Given the description of an element on the screen output the (x, y) to click on. 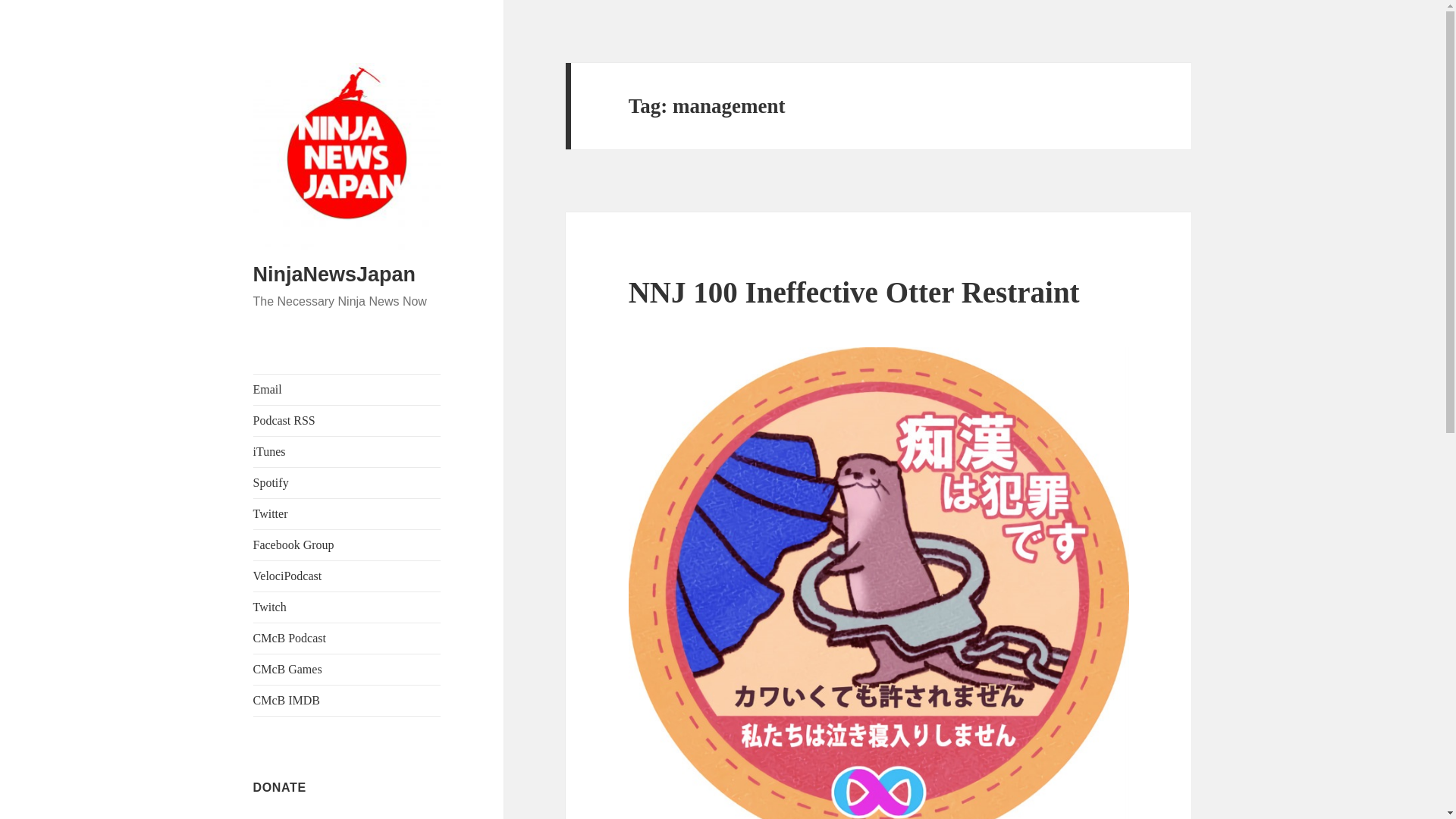
CMcB Podcast (347, 638)
Spotify (347, 482)
via paypal (277, 818)
NinjaNewsJapan (334, 273)
NNJ 100 Ineffective Otter Restraint (854, 292)
iTunes (347, 451)
Facebook Group (347, 544)
Email (347, 389)
VelociPodcast (347, 576)
Podcast RSS (347, 420)
Twitch (347, 607)
CMcB Games (347, 669)
CMcB IMDB (347, 700)
Twitter (347, 513)
